Given the description of an element on the screen output the (x, y) to click on. 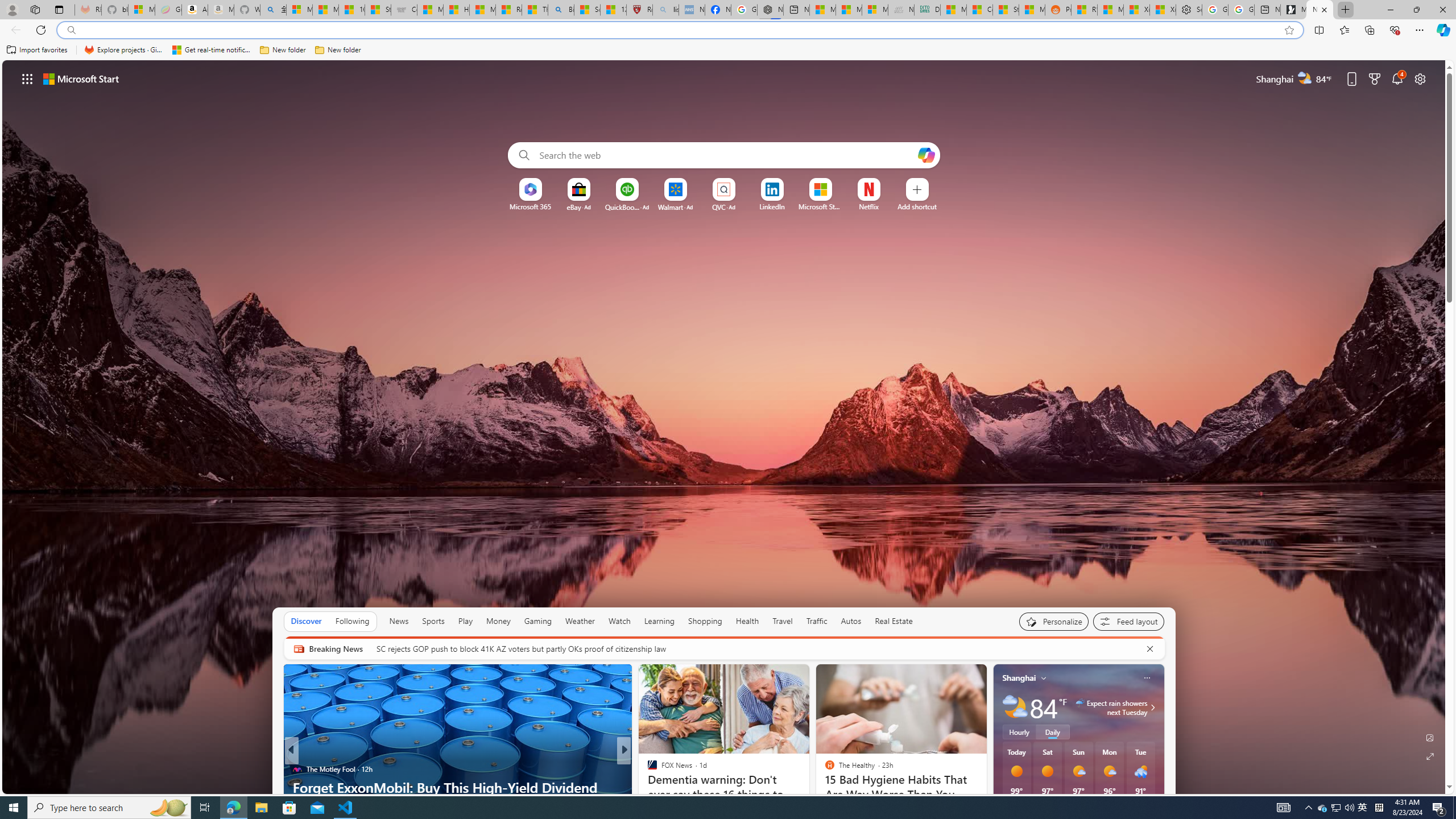
Shanghai (1018, 678)
Newsweek (647, 768)
Microsoft start (81, 78)
Daily (1052, 731)
Not Your Boss Babe (647, 768)
Personalize your feed" (1054, 621)
